Given the description of an element on the screen output the (x, y) to click on. 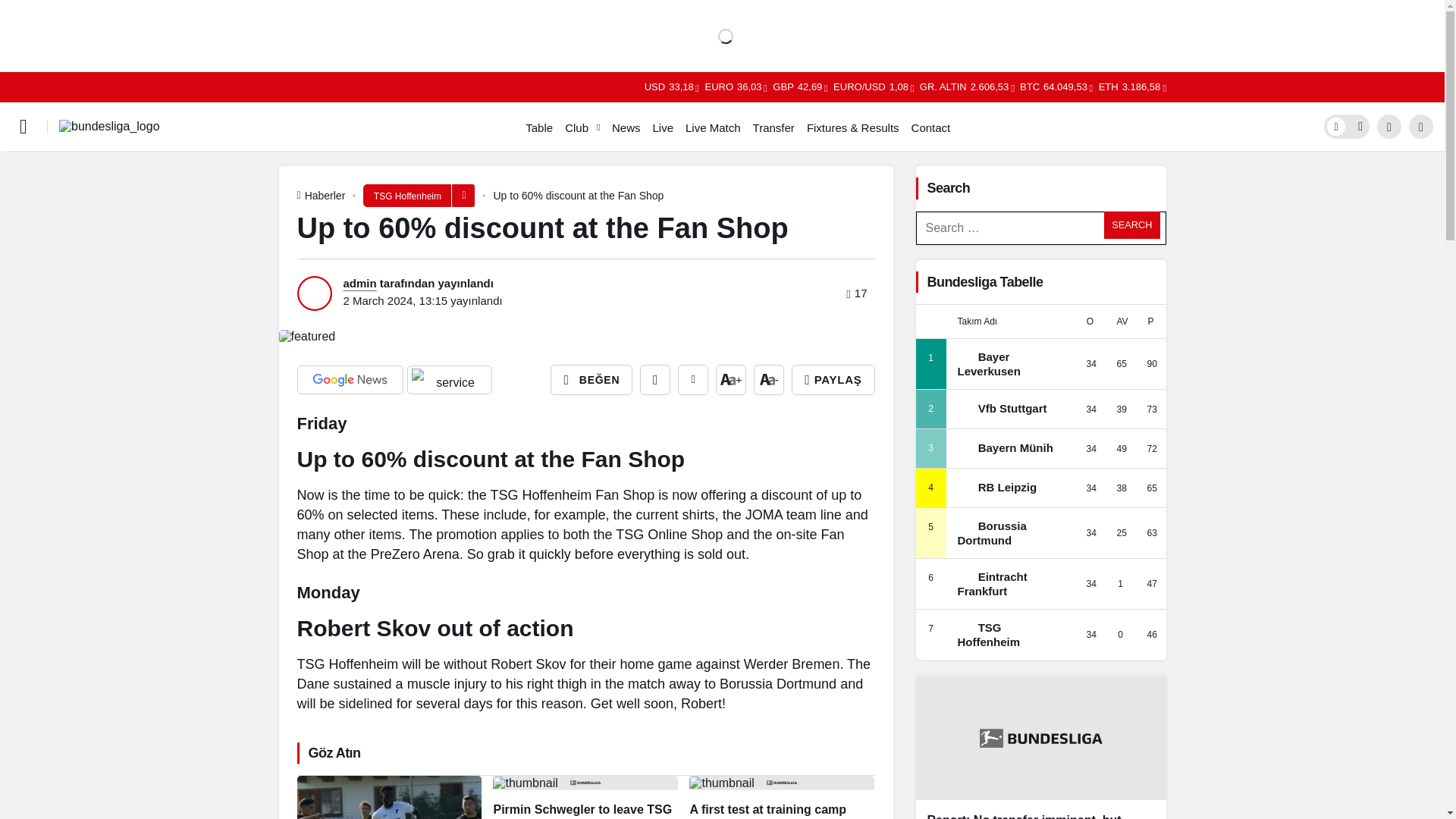
Favorilerime Ekle (654, 379)
Flipboard ile Abone Ol (449, 379)
Bundesliga News (109, 125)
Google News ile Abone Ol (350, 379)
Search (1130, 224)
Yorum Yap (692, 379)
Yorum Yap (1278, 20)
Search (1130, 224)
